Given the description of an element on the screen output the (x, y) to click on. 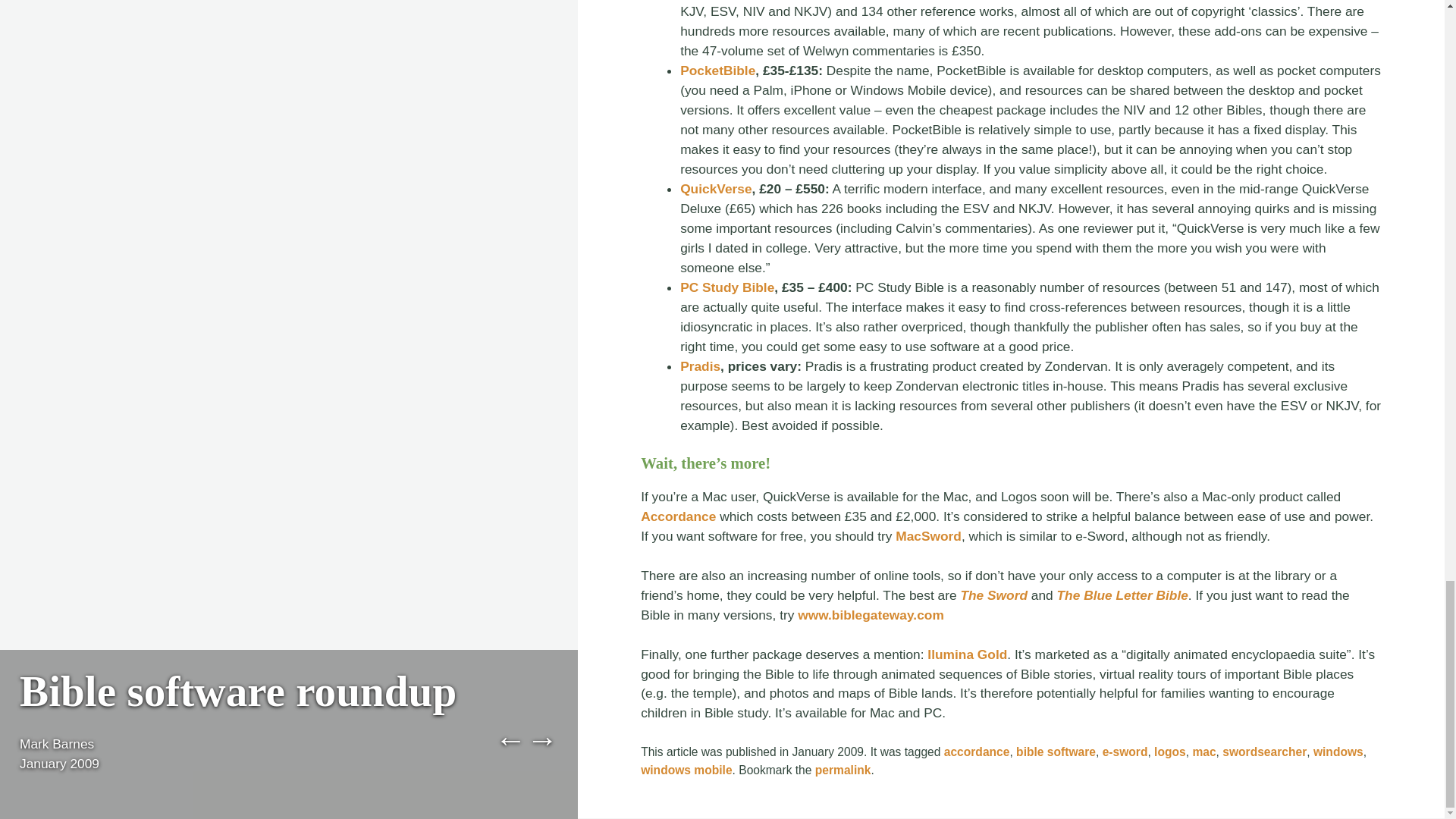
PC Study Bible (726, 287)
www.biblegateway.com (870, 614)
The Blue Letter Bible (1122, 595)
QuickVerse (715, 188)
Ilumina Gold (967, 654)
Accordance (678, 516)
accordance (976, 751)
MacSword (927, 535)
Permalink to Bible software roundup (842, 769)
PocketBible (717, 70)
